Given the description of an element on the screen output the (x, y) to click on. 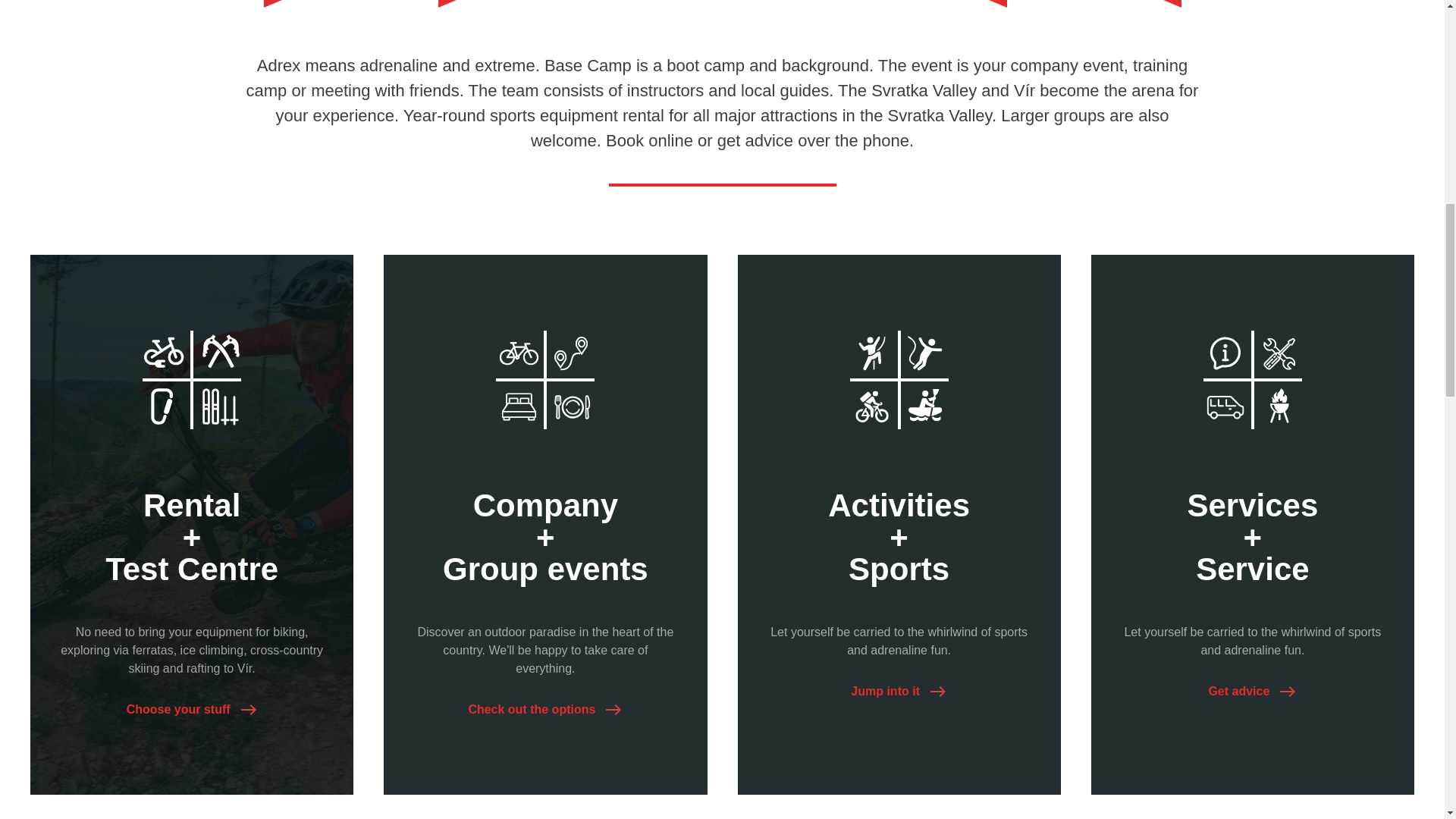
Check out the options (545, 710)
Get advice (1252, 691)
Choose your stuff (191, 710)
Jump into it (898, 691)
